Given the description of an element on the screen output the (x, y) to click on. 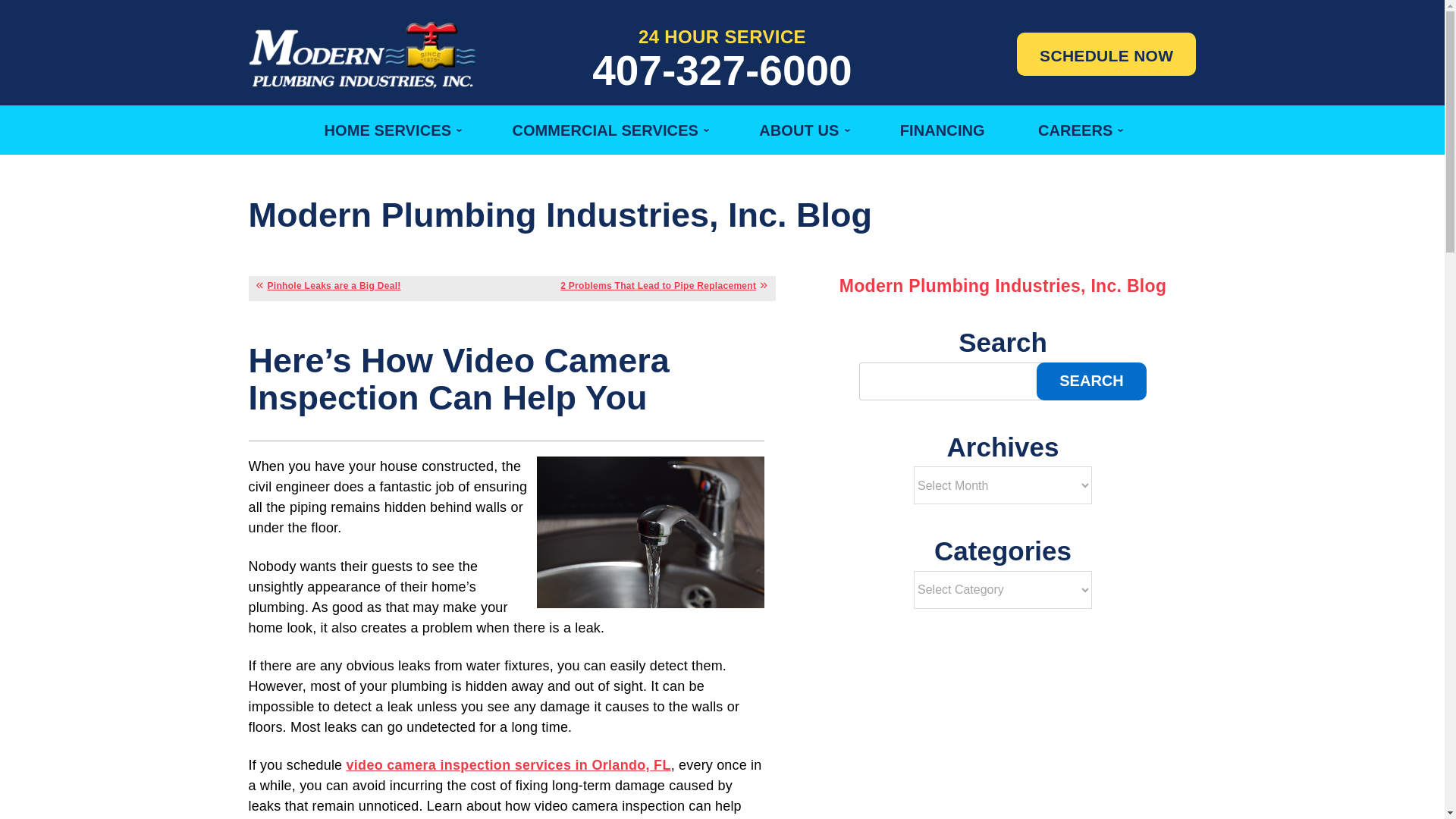
SCHEDULE NOW (1105, 54)
COMMERCIAL SERVICES (608, 129)
407-327-6000 (722, 70)
HOME SERVICES (391, 129)
